Given the description of an element on the screen output the (x, y) to click on. 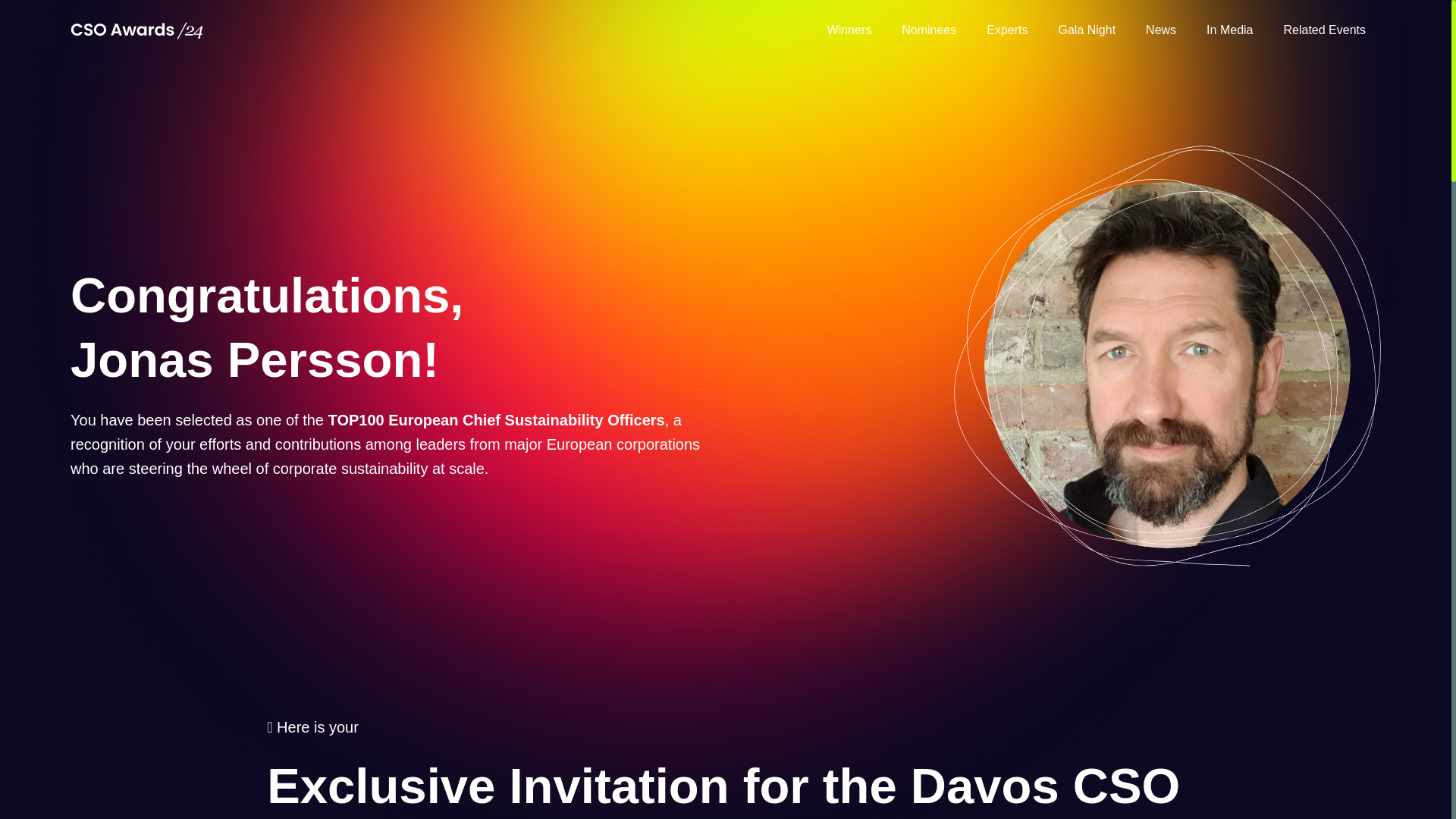
Nominees (928, 29)
Experts (1006, 29)
Related Events (1324, 29)
News (1161, 29)
Winners (849, 29)
In Media (1229, 29)
Gala Night (1087, 29)
